Given the description of an element on the screen output the (x, y) to click on. 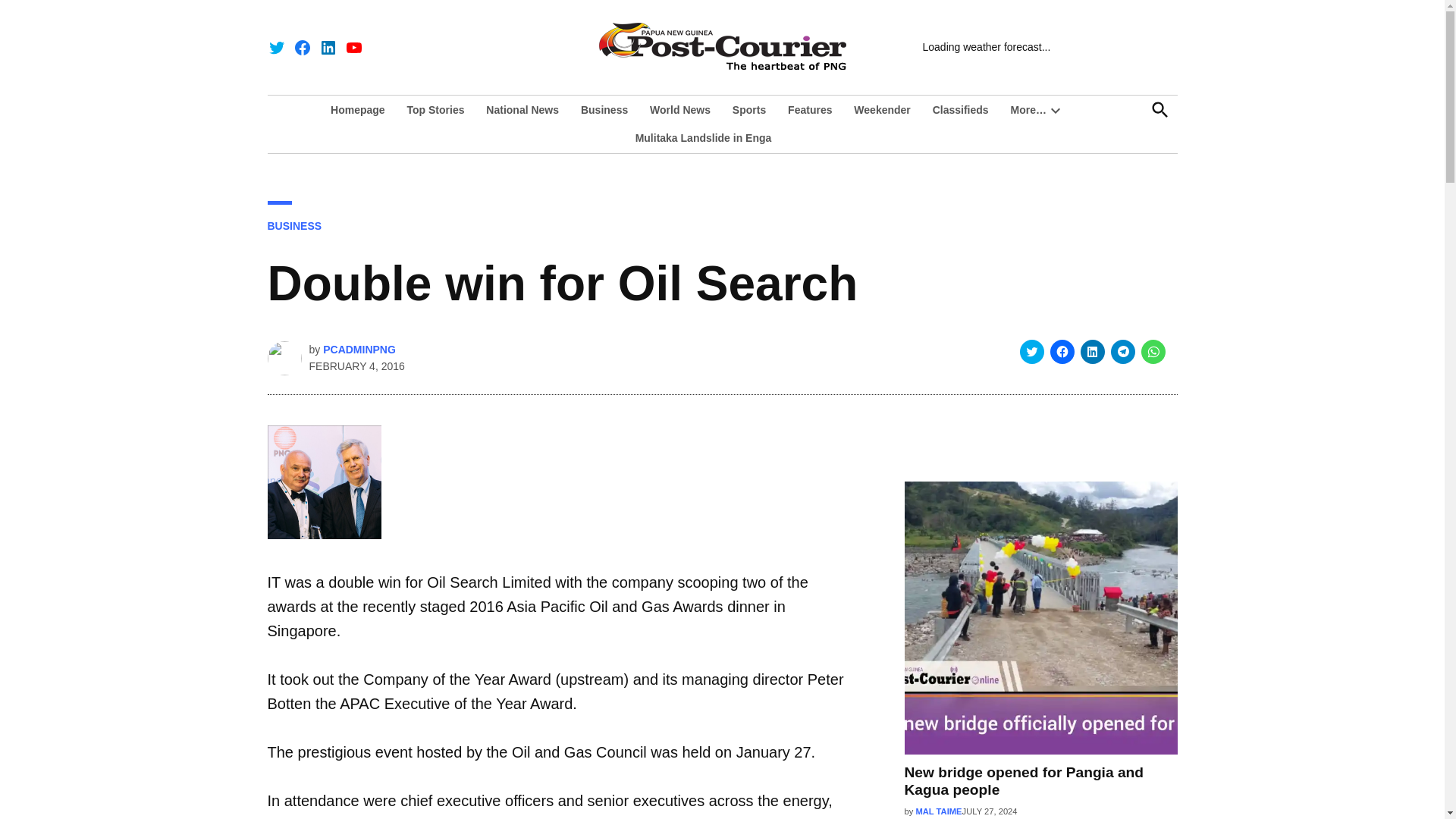
Post Courier (1025, 56)
Click to share on Twitter (1031, 351)
Click to share on WhatsApp (1152, 351)
Click to share on LinkedIn (1091, 351)
Homepage (361, 109)
Top Stories (434, 109)
Click to share on Facebook (1061, 351)
Twitter (275, 46)
Click to share on Telegram (1121, 351)
YouTube (352, 46)
LinkedIn (327, 46)
Facebook (301, 46)
